Given the description of an element on the screen output the (x, y) to click on. 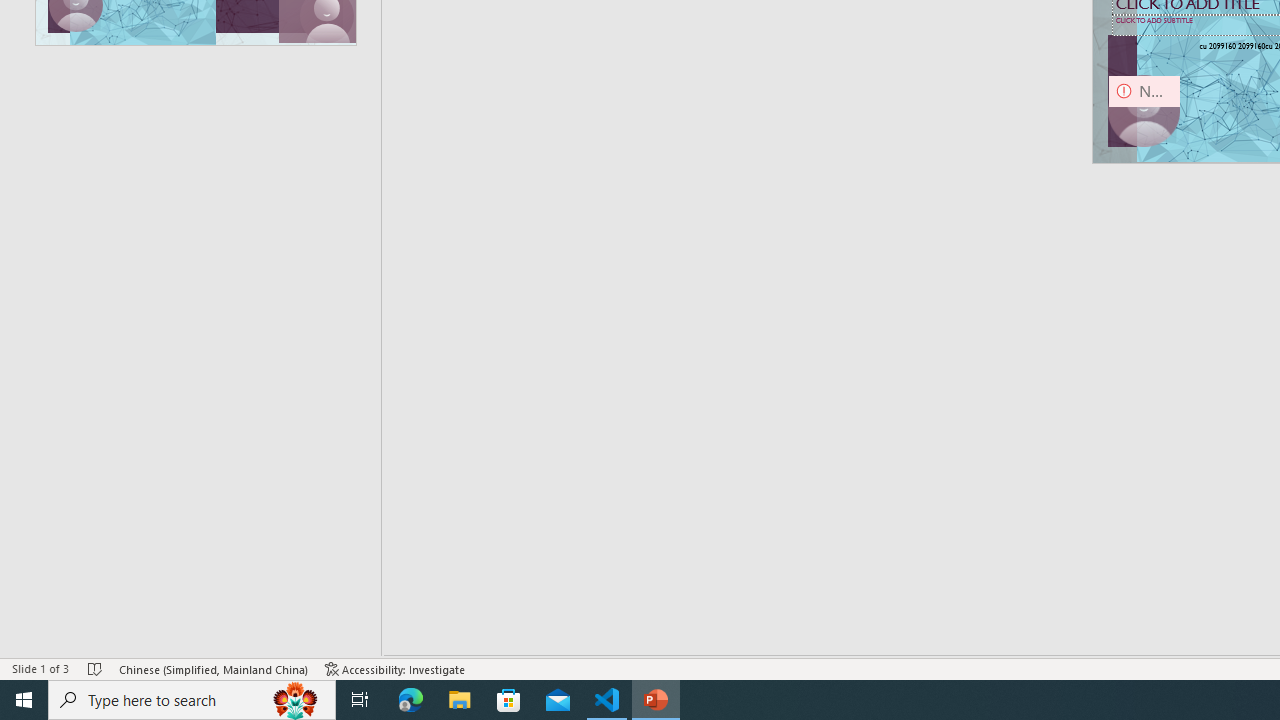
Accessibility Checker Accessibility: Investigate (395, 668)
Camera 9, No camera detected. (1144, 111)
Spell Check No Errors (95, 668)
